Given the description of an element on the screen output the (x, y) to click on. 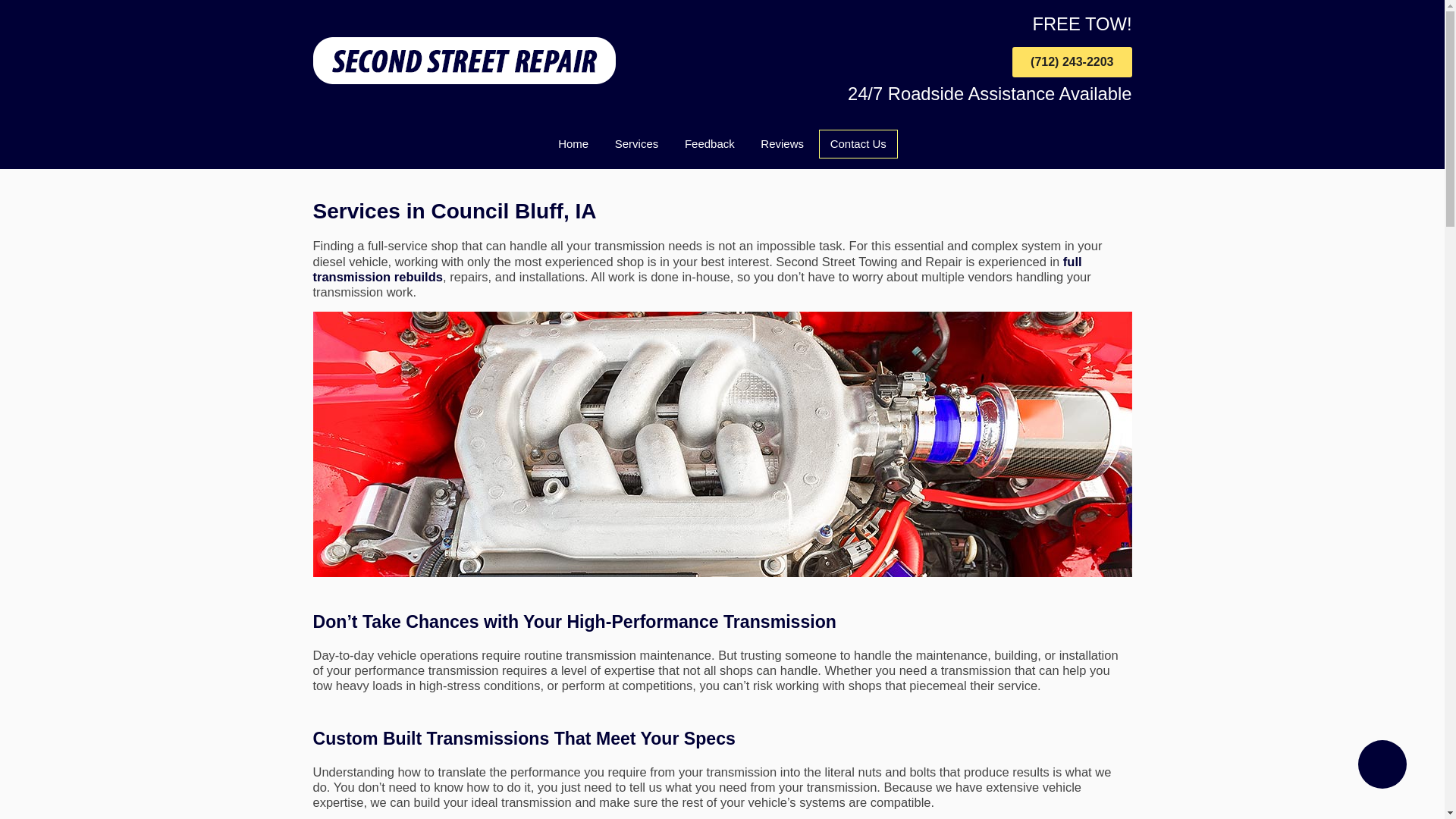
Feedback Element type: text (709, 143)
Contact Us Element type: text (858, 143)
Services Element type: text (636, 143)
Home Element type: text (572, 143)
(712) 243-2203 Element type: text (1071, 62)
Reviews Element type: text (782, 143)
full transmission rebuilds Element type: text (696, 268)
